Given the description of an element on the screen output the (x, y) to click on. 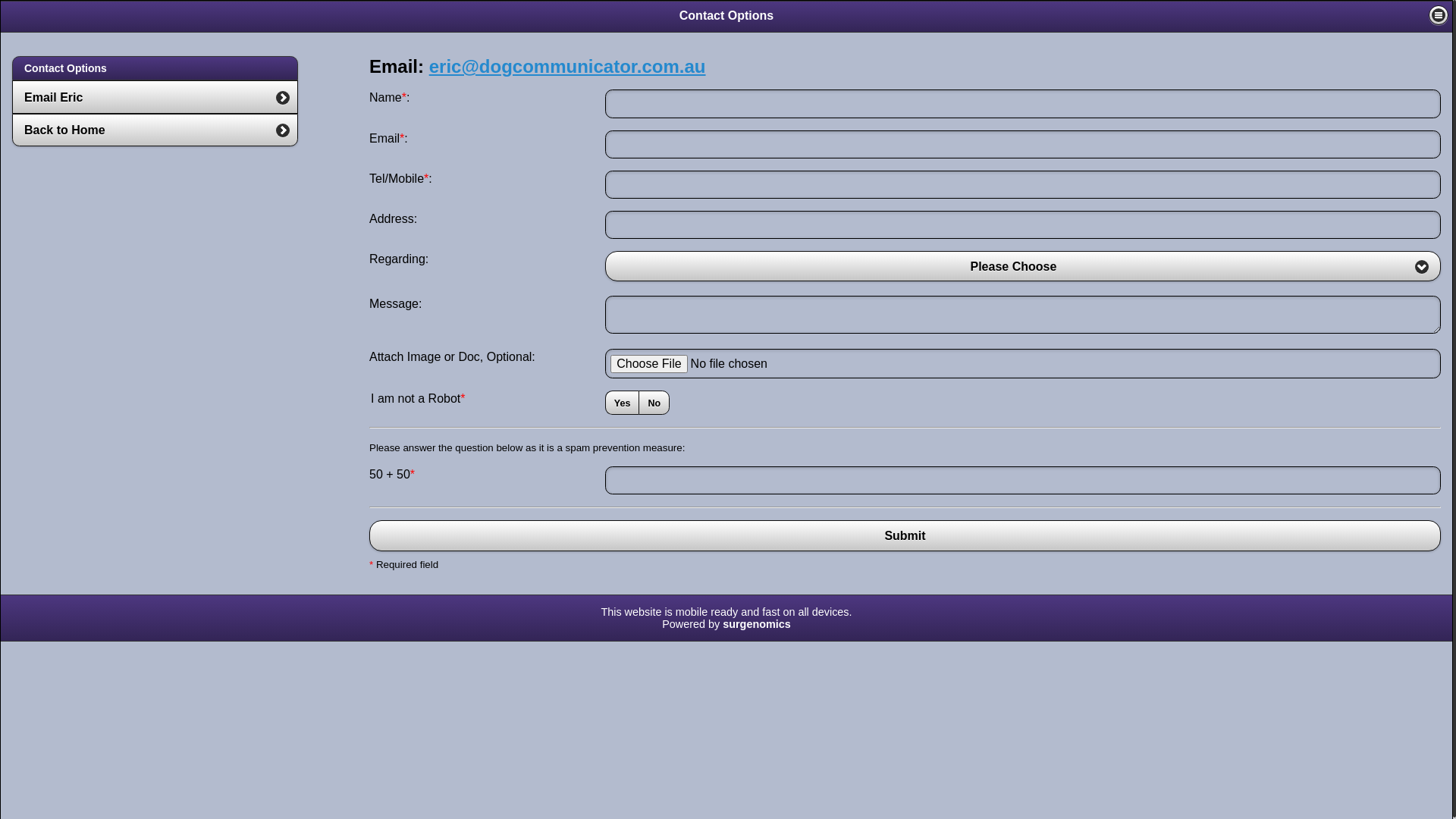
Email Eric Element type: text (154, 96)
Submit Element type: text (905, 534)
Back to Home Element type: text (154, 130)
  Element type: text (1438, 15)
Navigation Element type: hover (1438, 15)
eric@dogcommunicator.com.au Element type: text (567, 66)
surgenomics Element type: text (756, 624)
